Given the description of an element on the screen output the (x, y) to click on. 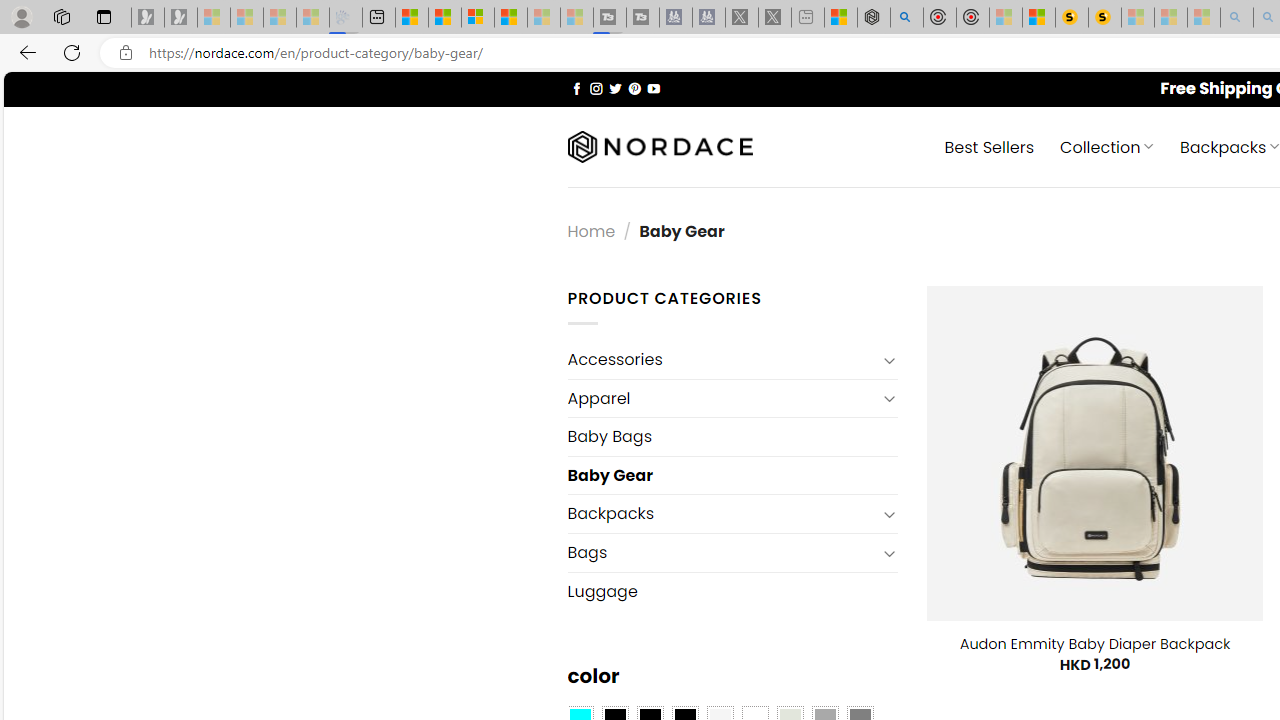
Bags (721, 552)
Backpacks (721, 514)
Baby Bags (732, 435)
